Given the description of an element on the screen output the (x, y) to click on. 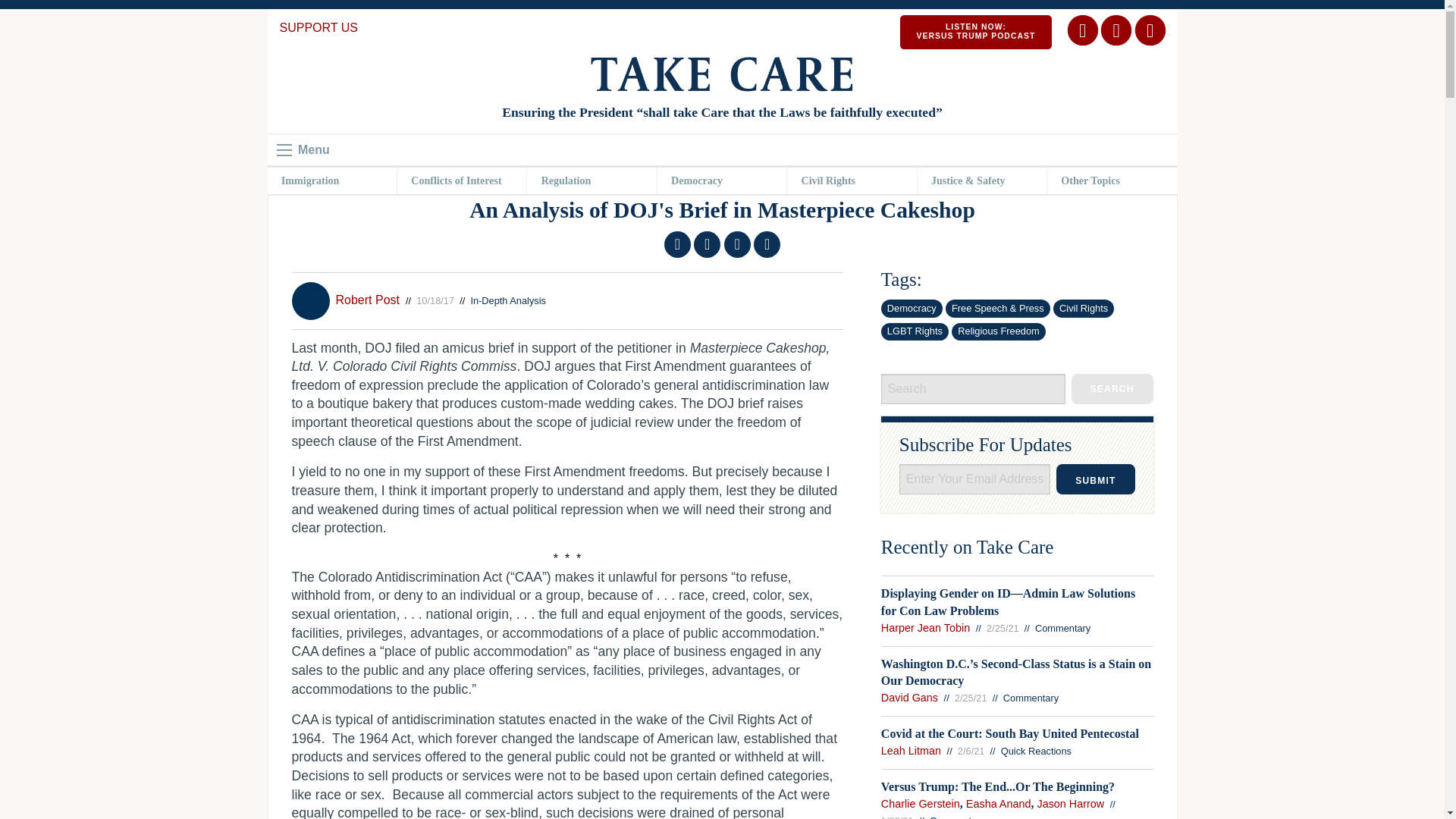
Conflicts of Interest (461, 180)
Democracy (722, 180)
SUPPORT US (317, 27)
Regulation (975, 32)
Immigration (591, 180)
search (331, 180)
Civil Rights (1112, 388)
